Given the description of an element on the screen output the (x, y) to click on. 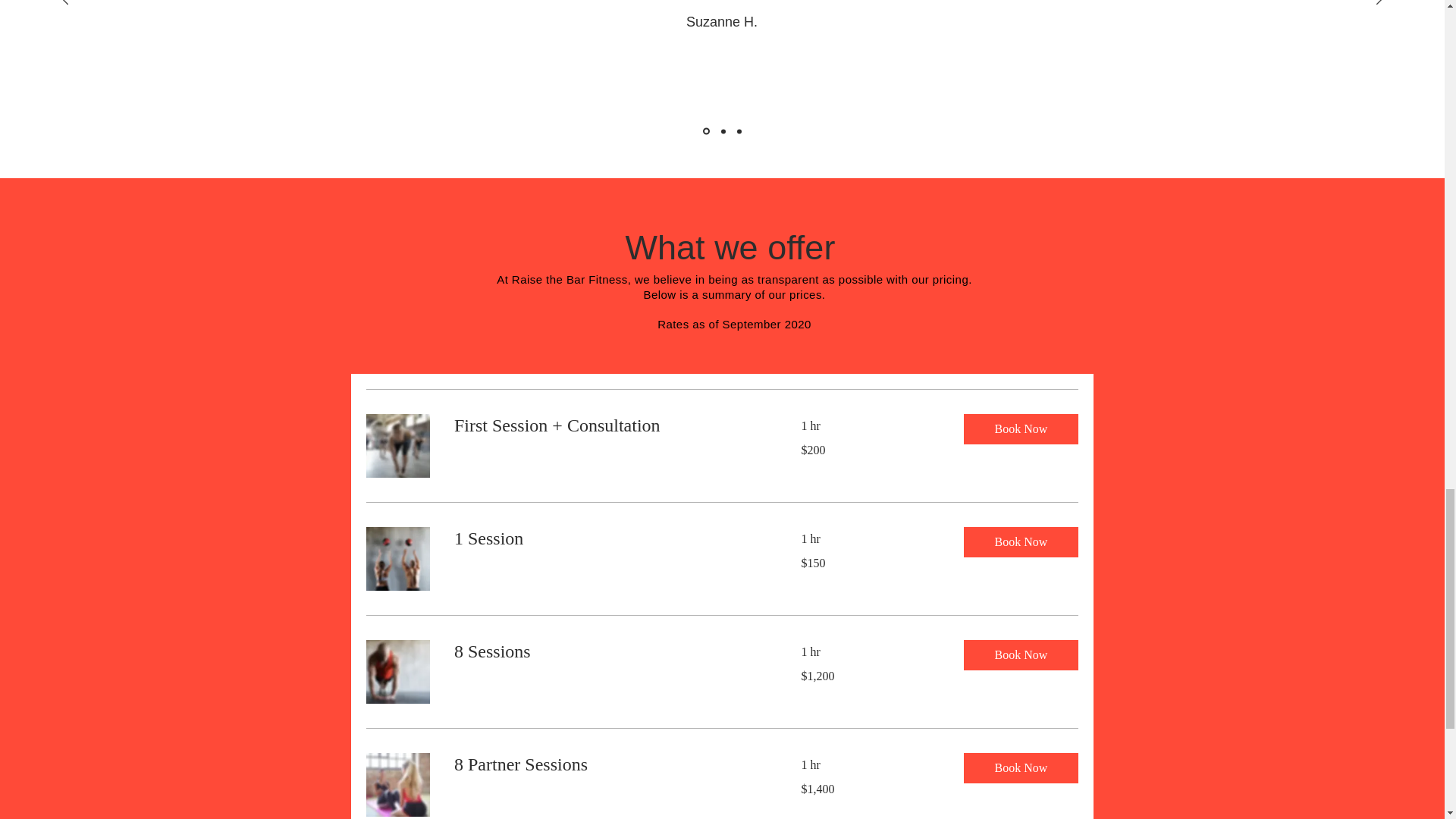
8 Sessions (608, 651)
Book Now (1019, 542)
8 Partner Sessions (608, 764)
1 Session (608, 539)
Book Now (1019, 767)
Book Now (1019, 429)
Book Now (1019, 654)
